Given the description of an element on the screen output the (x, y) to click on. 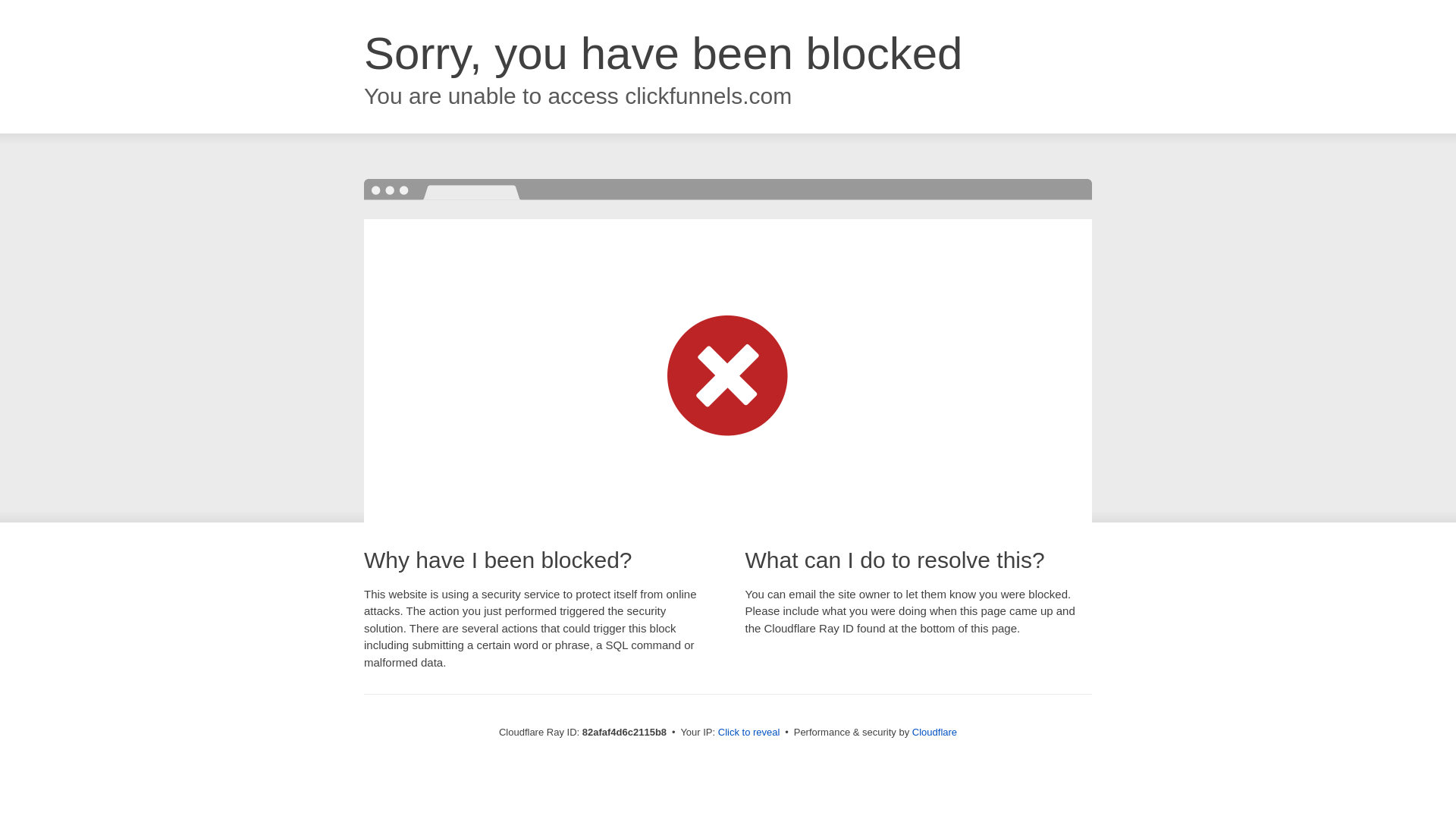
Click to reveal Element type: text (749, 732)
Cloudflare Element type: text (934, 731)
